Given the description of an element on the screen output the (x, y) to click on. 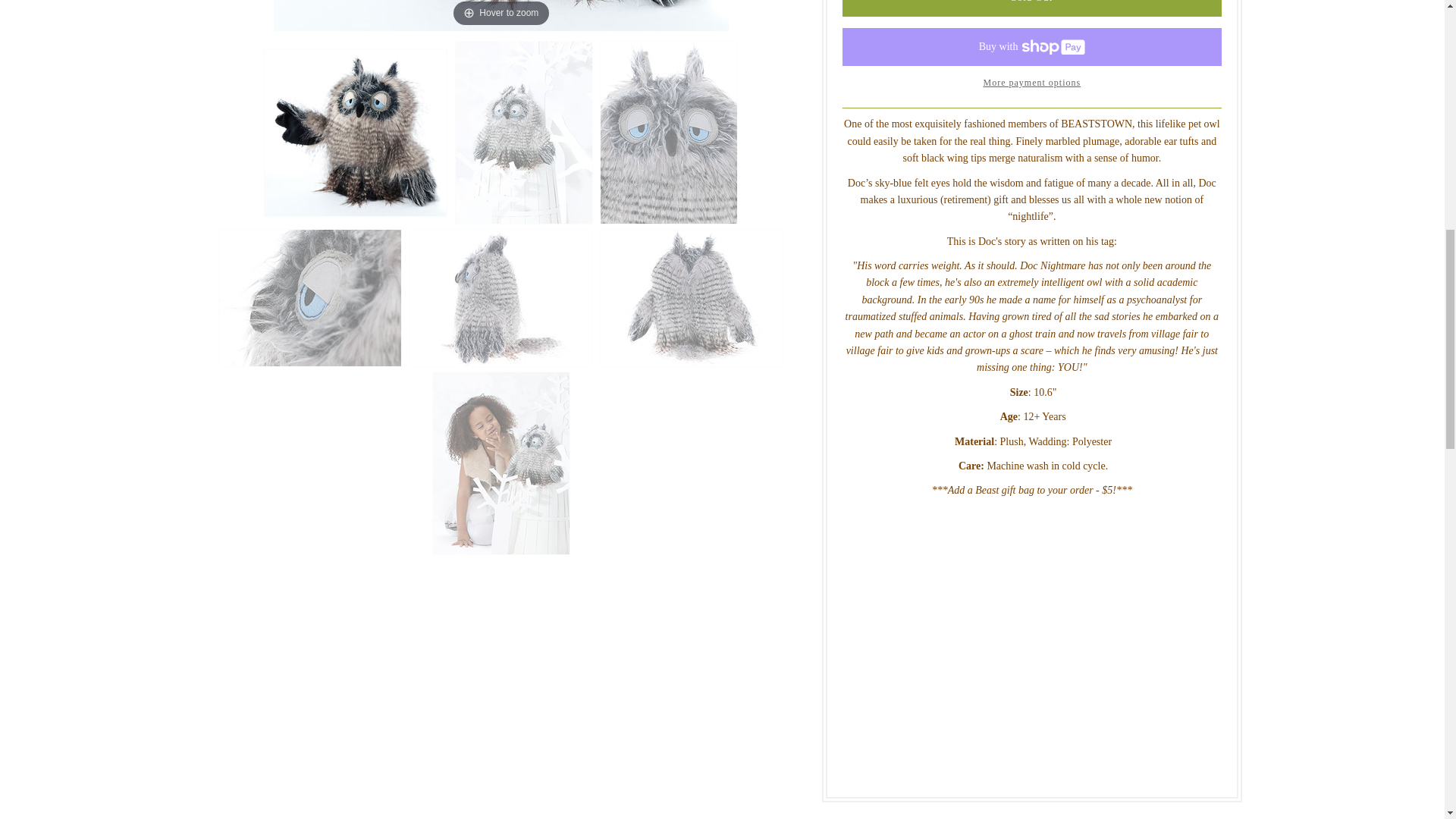
Doc Nightmare (691, 298)
Sold Out (1032, 8)
Doc Nightmare (501, 298)
Doc Nightmare (310, 298)
Doc Nightmare (355, 132)
